Given the description of an element on the screen output the (x, y) to click on. 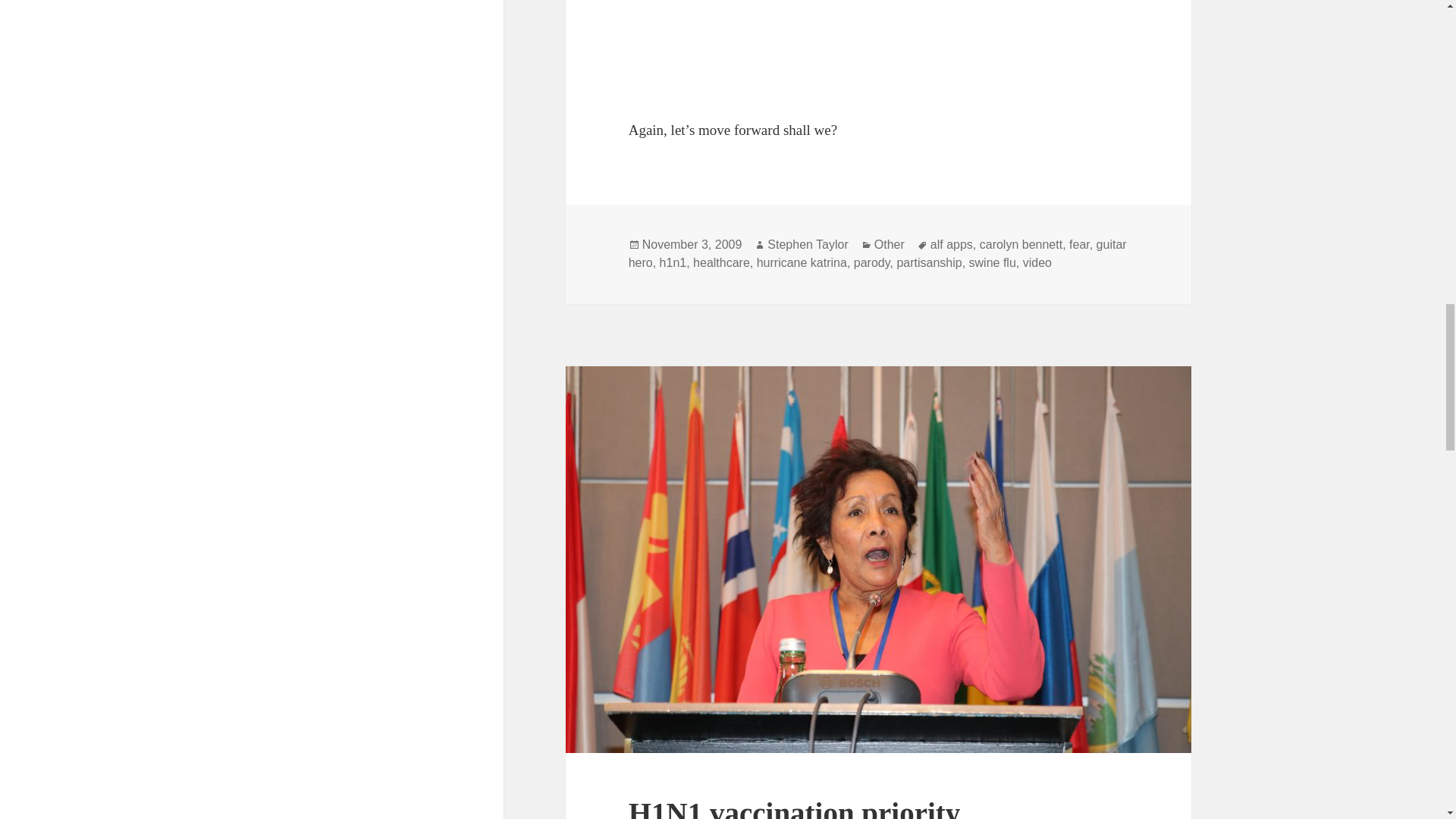
hurricane katrina (802, 263)
h1n1 (673, 263)
alf apps (951, 244)
swine flu (992, 263)
Other (889, 244)
carolyn bennett (1020, 244)
H1N1 vaccination priority (794, 807)
guitar hero (877, 254)
healthcare (721, 263)
partisanship (928, 263)
